Given the description of an element on the screen output the (x, y) to click on. 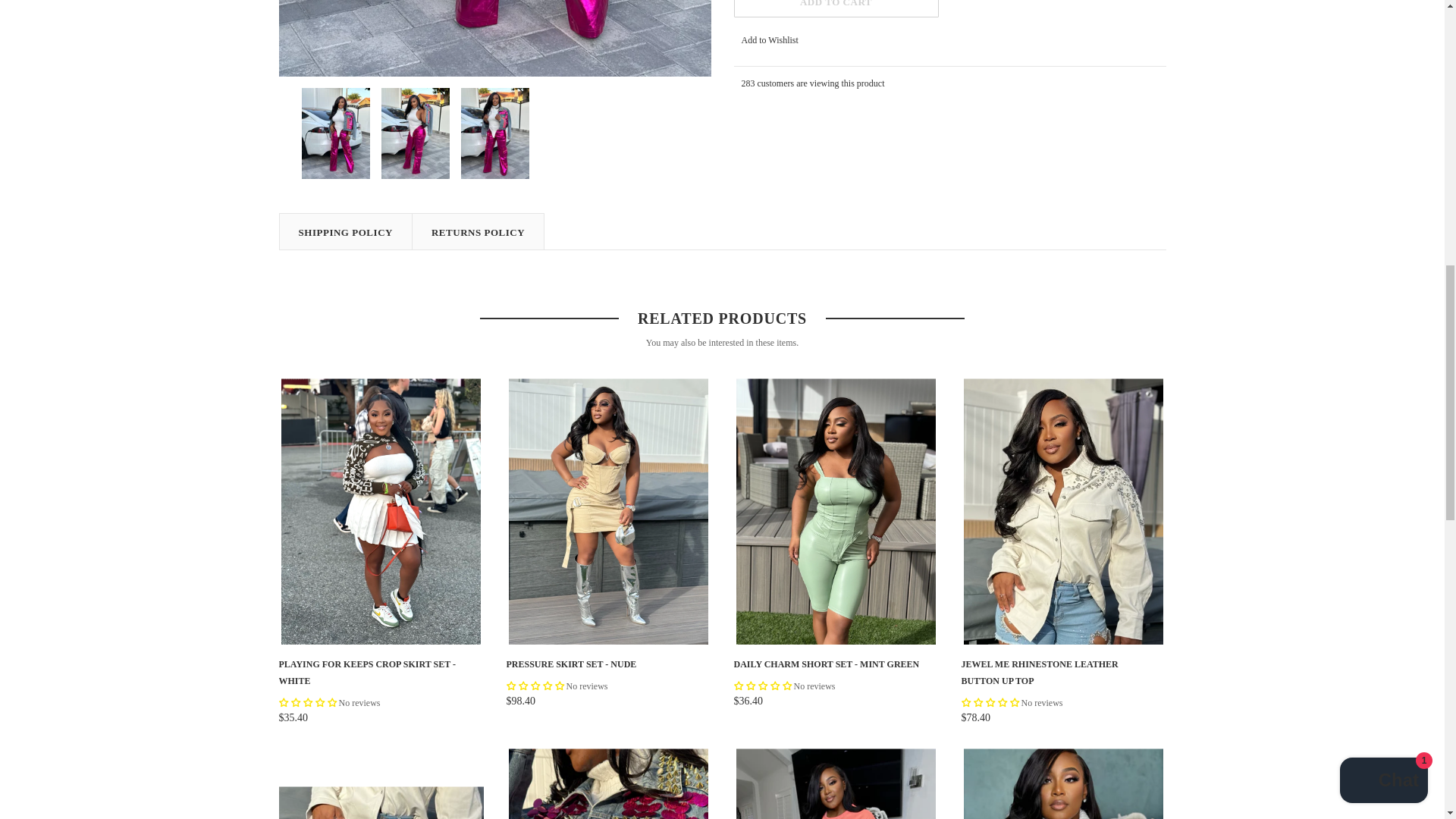
Add to Cart (836, 8)
